Given the description of an element on the screen output the (x, y) to click on. 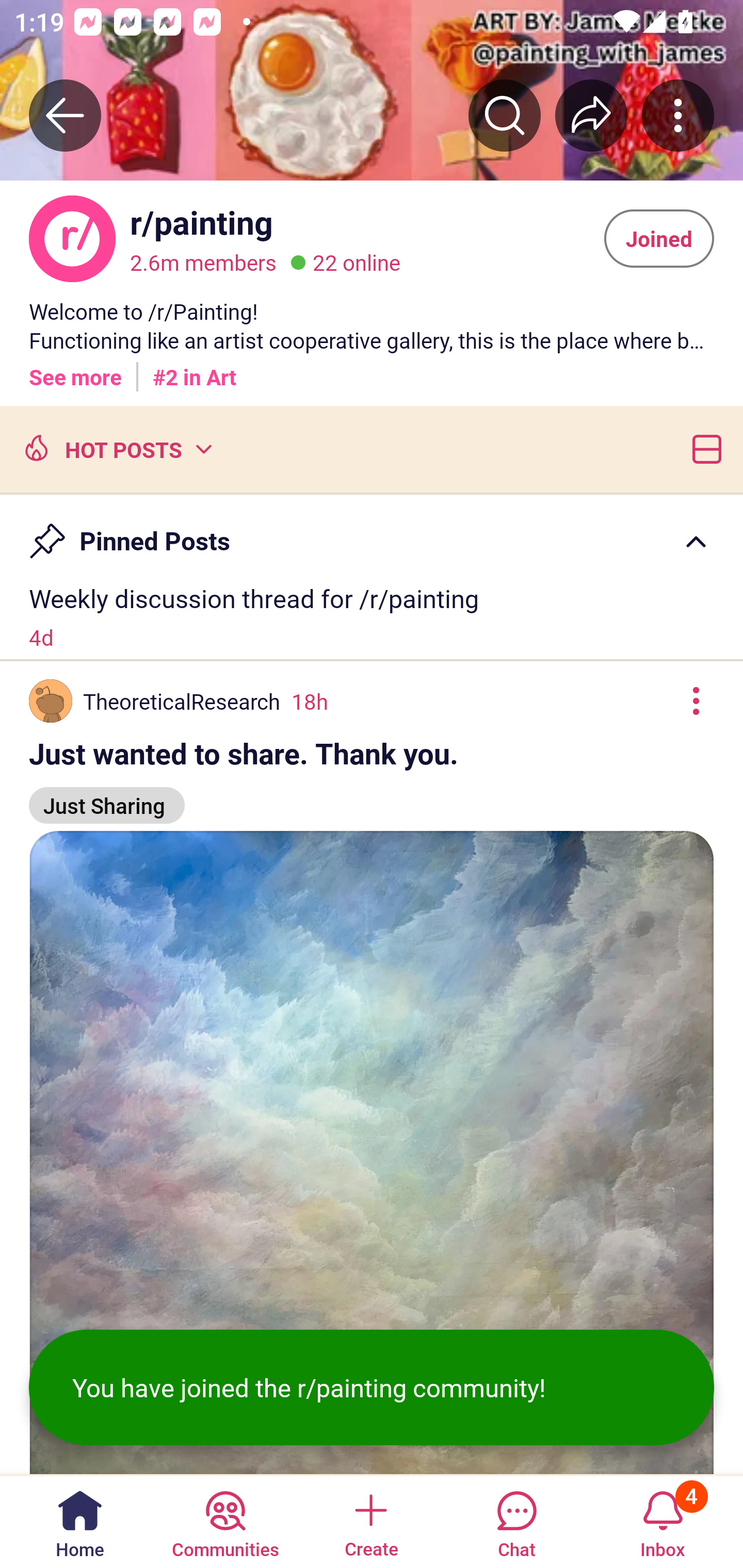
Back (64, 115)
Search r/﻿painting (504, 115)
Share r/﻿painting (591, 115)
More community actions (677, 115)
Hot posts HOT POSTS (116, 448)
Card (703, 448)
Pin Pinned Posts Caret (371, 531)
Weekly discussion thread for /r/painting 4d (371, 616)
Just Sharing  (106, 796)
Home (80, 1520)
Communities (225, 1520)
Create a post Create (370, 1520)
Chat (516, 1520)
Inbox, has 4 notifications 4 Inbox (662, 1520)
